Given the description of an element on the screen output the (x, y) to click on. 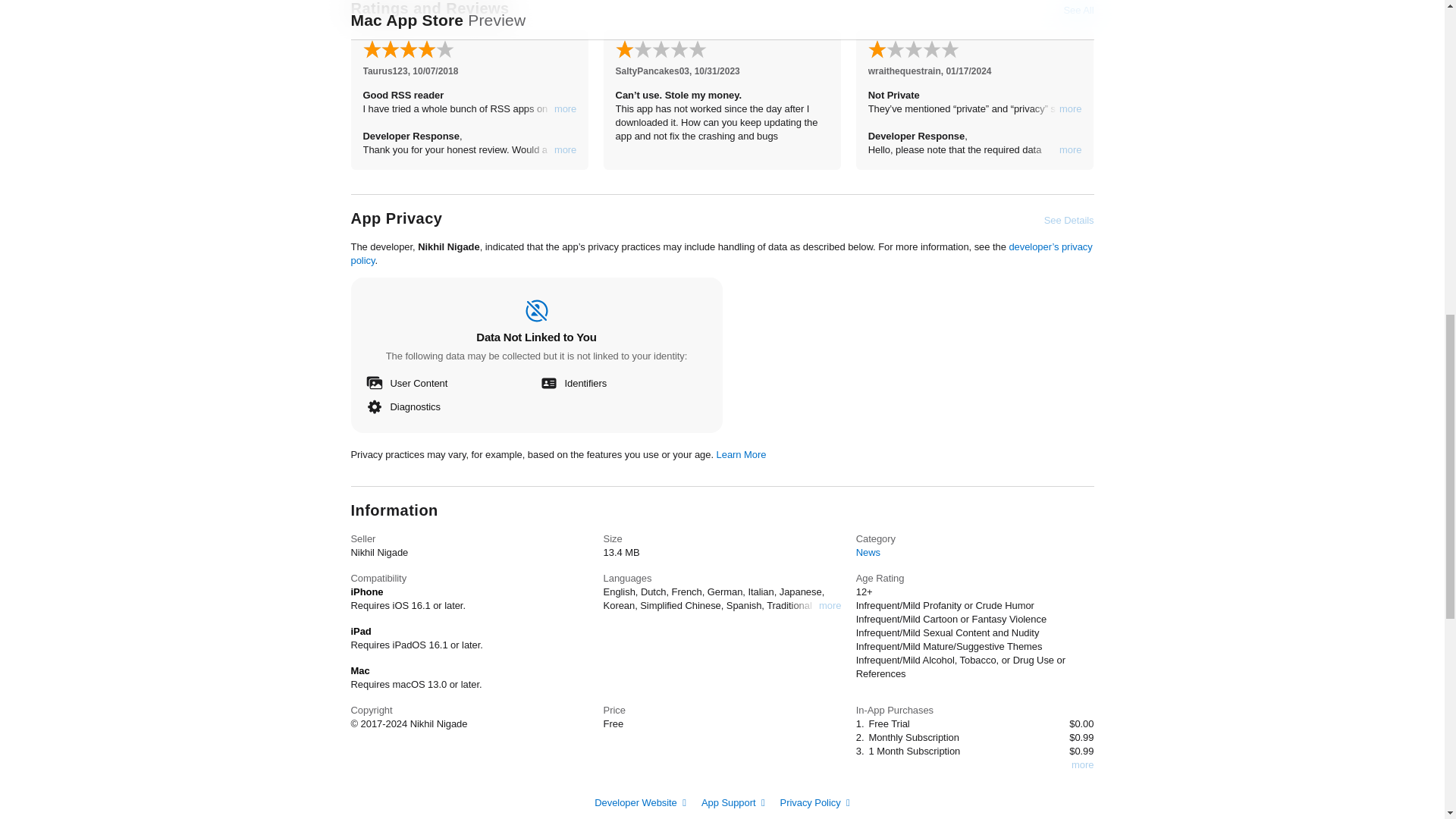
Privacy Policy (815, 802)
more (829, 605)
Developer Website (639, 802)
See Details (1068, 220)
See All (1077, 10)
more (565, 109)
more (1070, 109)
more (565, 150)
more (1082, 765)
App Support (733, 802)
Learn More (741, 454)
more (1070, 150)
News (868, 552)
